Given the description of an element on the screen output the (x, y) to click on. 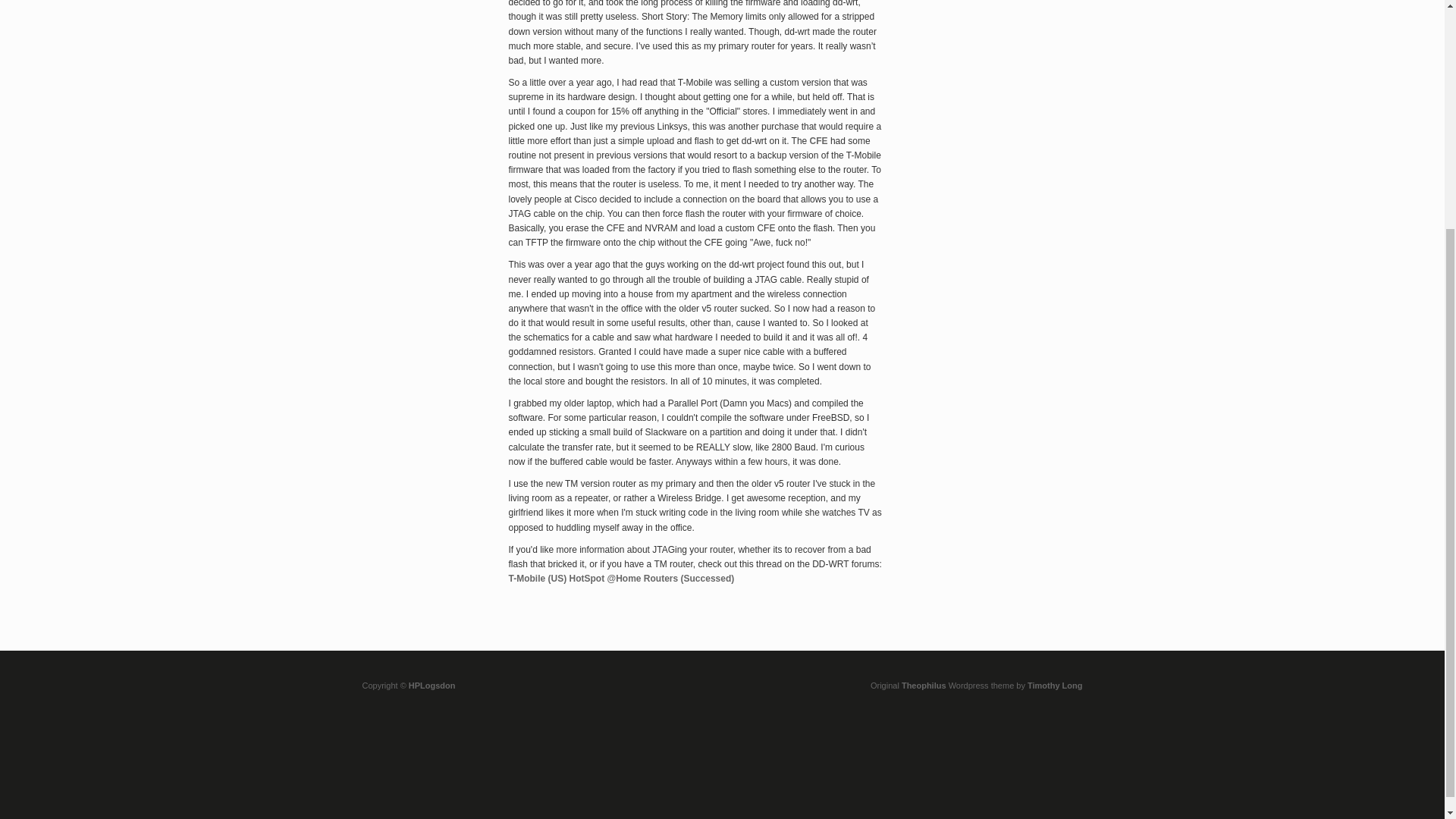
Timothy Long (1055, 685)
Theophilus (923, 685)
HPLogsdon (432, 685)
CFE (818, 140)
